Given the description of an element on the screen output the (x, y) to click on. 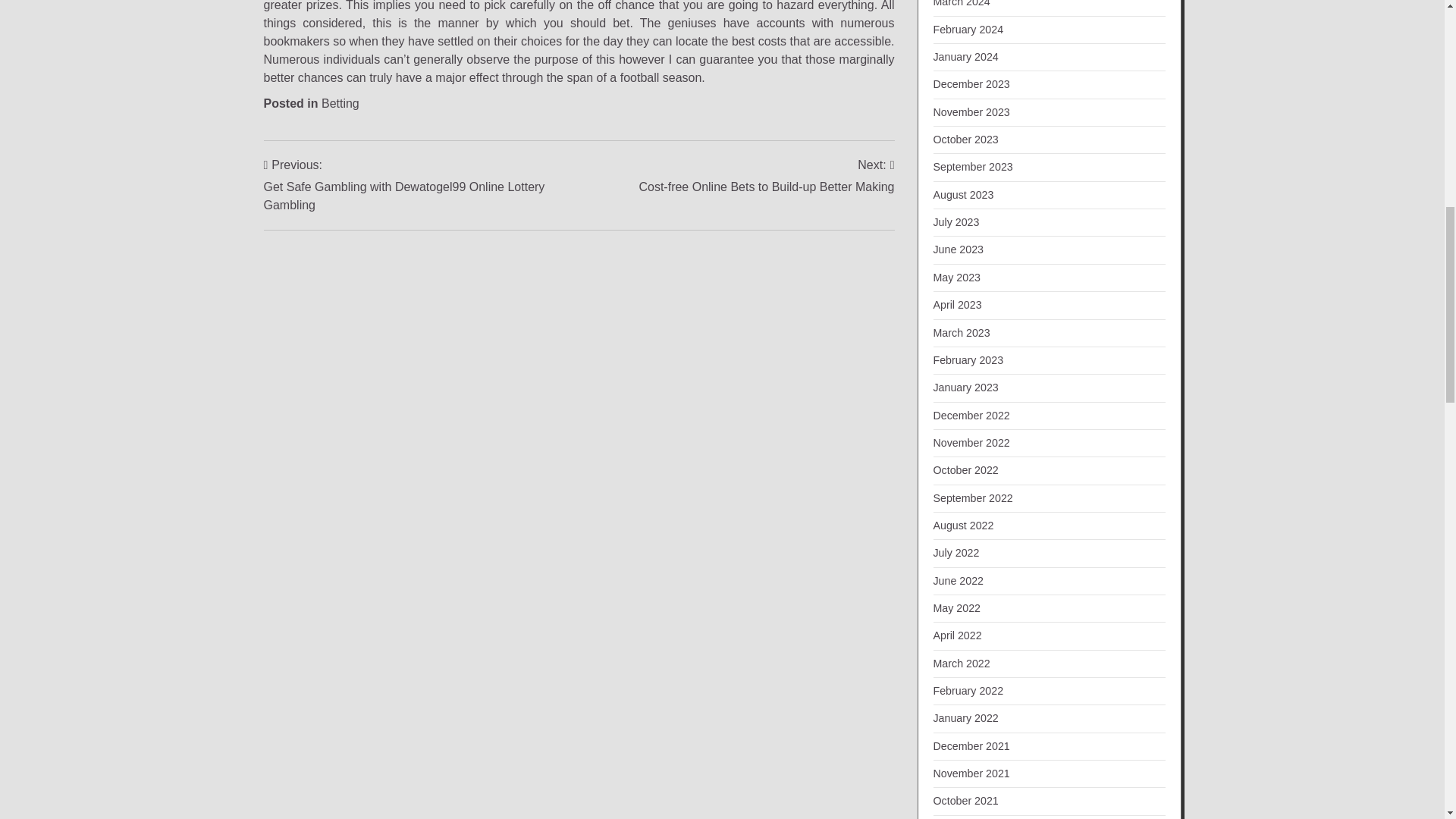
April 2023 (957, 304)
November 2023 (971, 111)
March 2024 (961, 3)
May 2023 (956, 277)
January 2024 (965, 56)
February 2024 (968, 29)
December 2023 (971, 83)
June 2023 (958, 249)
October 2023 (965, 139)
